Given the description of an element on the screen output the (x, y) to click on. 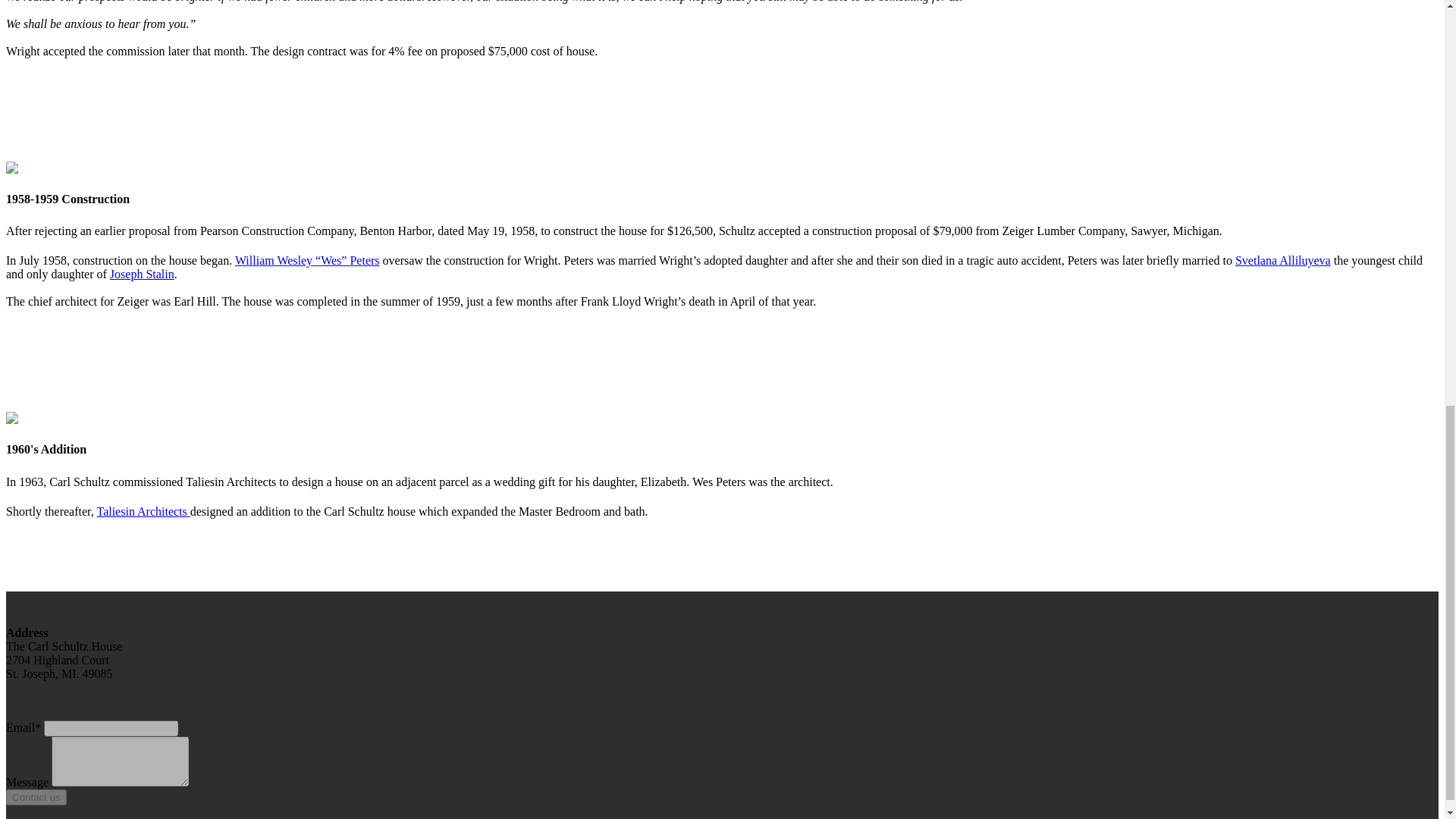
Contact us (35, 797)
Joseph Stalin (142, 273)
Svetlana Alliluyeva (1282, 259)
Taliesin Architects (142, 511)
